Given the description of an element on the screen output the (x, y) to click on. 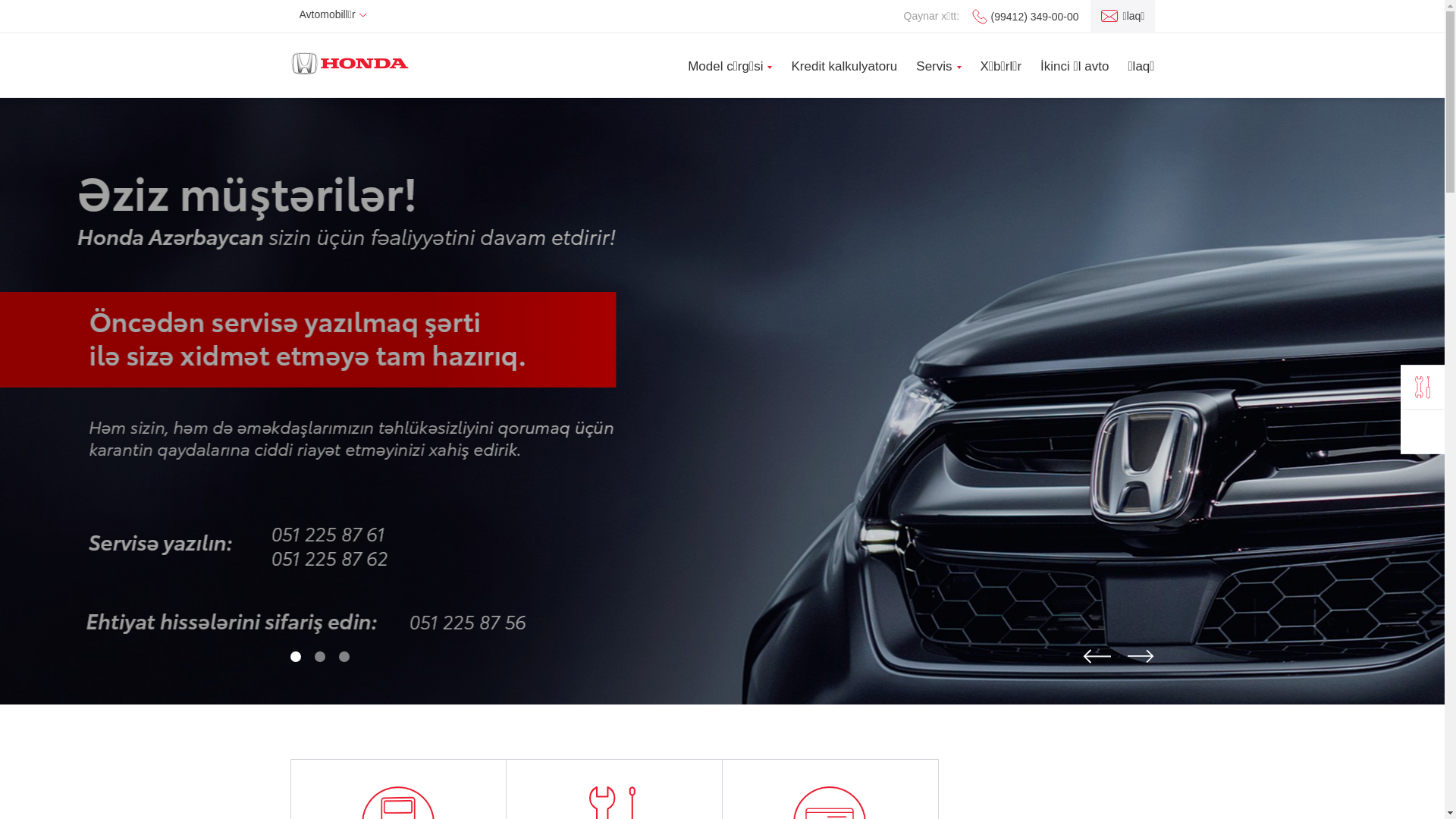
3 Element type: text (343, 656)
2 Element type: text (318, 656)
Servis Element type: text (933, 66)
1 Element type: text (294, 656)
Kredit kalkulyatoru Element type: text (843, 66)
